Given the description of an element on the screen output the (x, y) to click on. 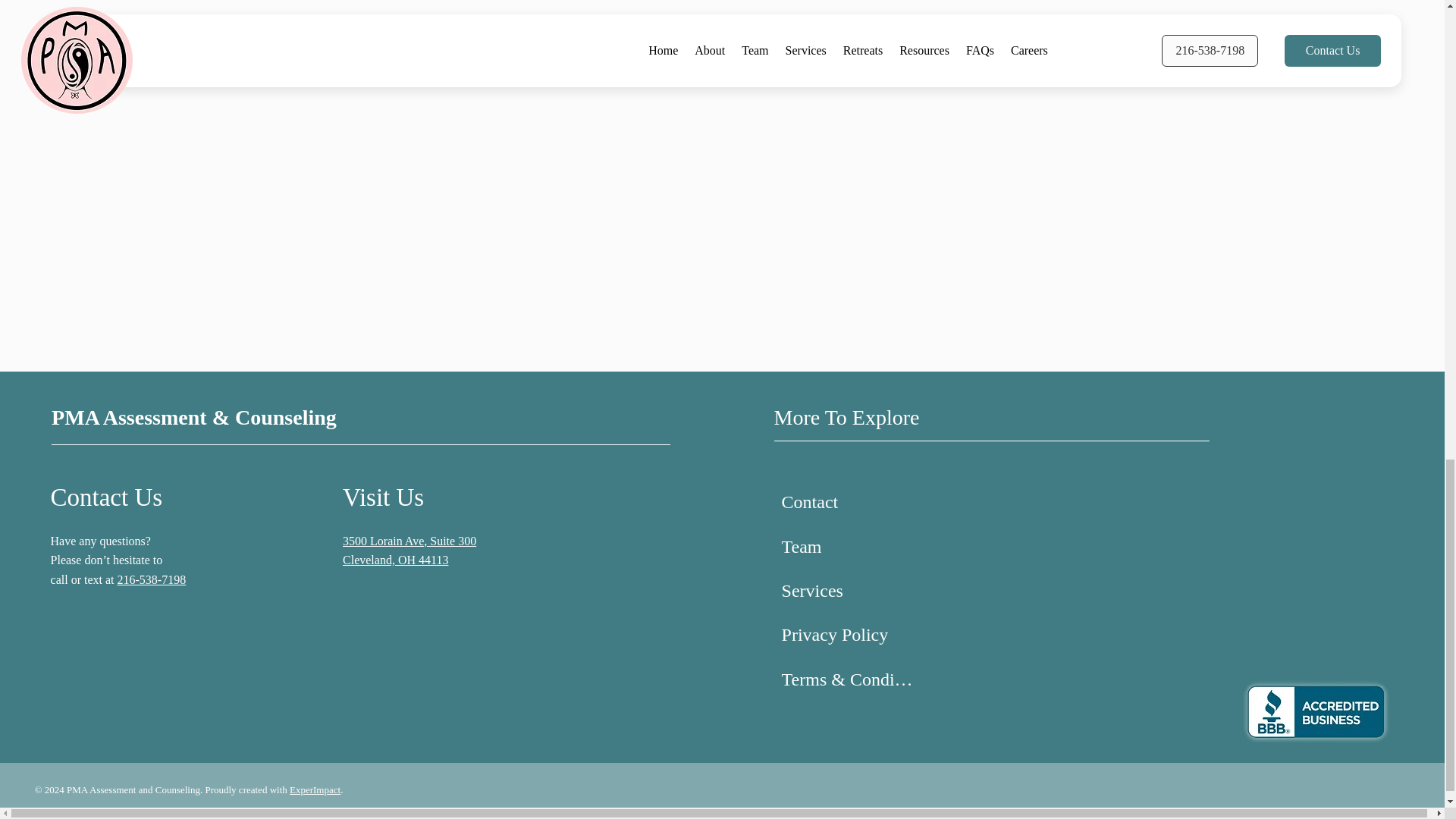
ExperImpact (314, 789)
Services (845, 590)
Cleveland, OH 44113 (395, 559)
216-538-7198 (151, 579)
Team (845, 546)
Contact (845, 501)
Privacy Policy (845, 634)
3500 Lorain Ave, Suite 300 (409, 540)
